Given the description of an element on the screen output the (x, y) to click on. 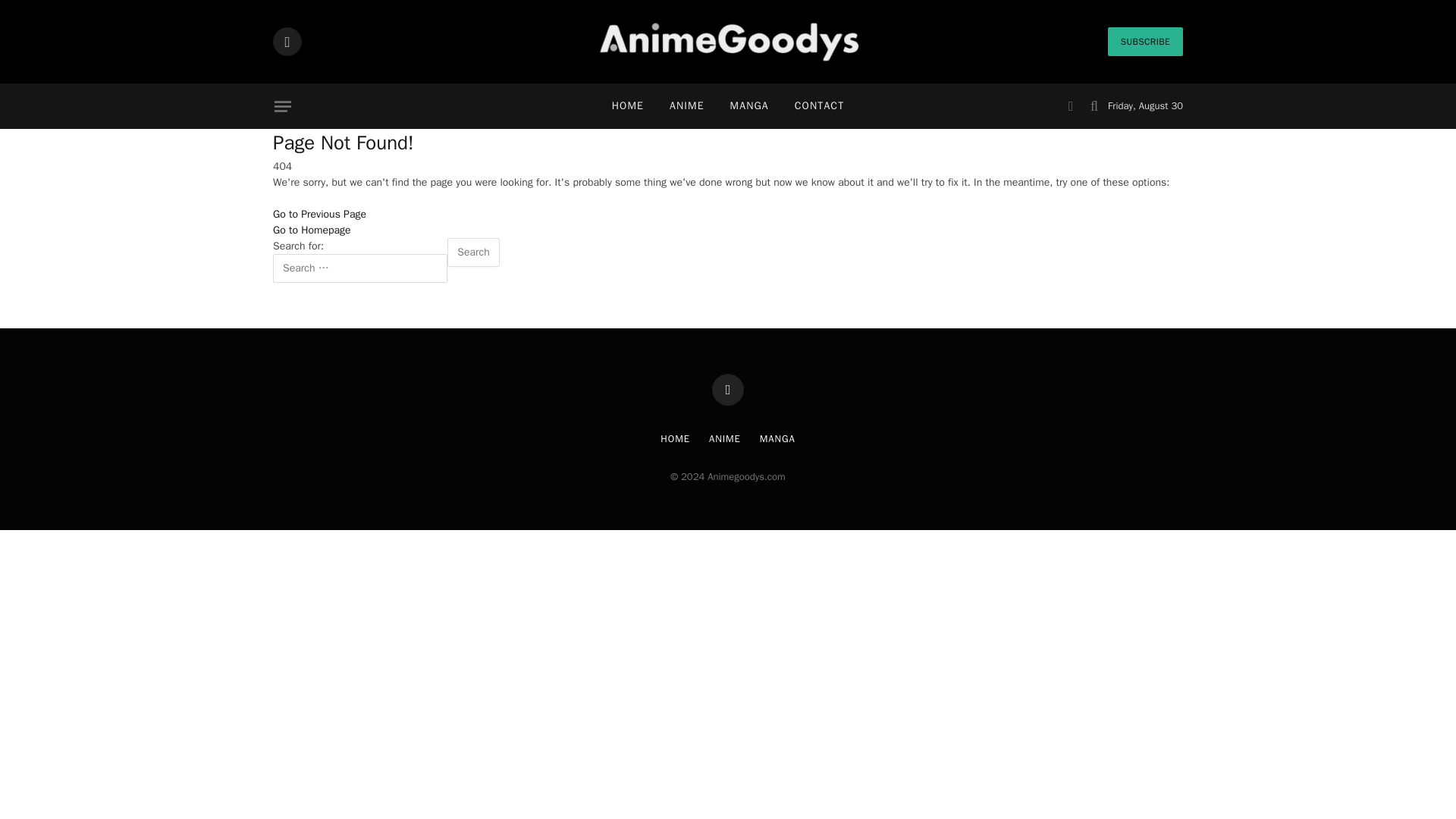
Pinterest (287, 41)
Pinterest (727, 389)
Switch to Dark Design - easier on eyes. (1070, 106)
ANIME (725, 438)
MANGA (777, 438)
Go to Previous Page (319, 214)
HOME (675, 438)
Search (472, 252)
Search (472, 252)
Animegoodys.com (727, 41)
